Given the description of an element on the screen output the (x, y) to click on. 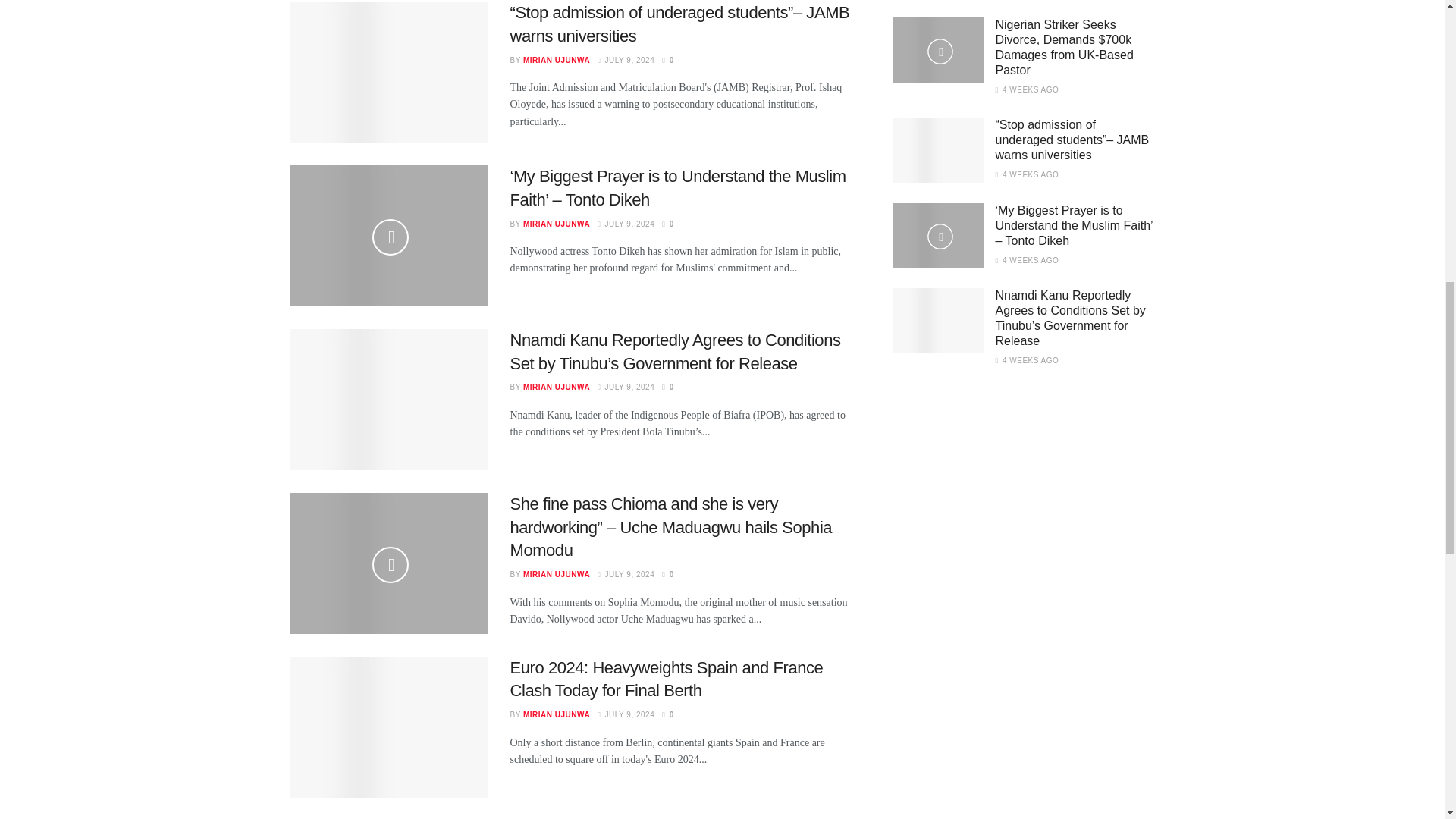
MIRIAN UJUNWA (555, 387)
JULY 9, 2024 (624, 224)
JULY 9, 2024 (624, 387)
JULY 9, 2024 (624, 60)
MIRIAN UJUNWA (555, 60)
0 (668, 387)
MIRIAN UJUNWA (555, 224)
0 (668, 60)
0 (668, 224)
